Given the description of an element on the screen output the (x, y) to click on. 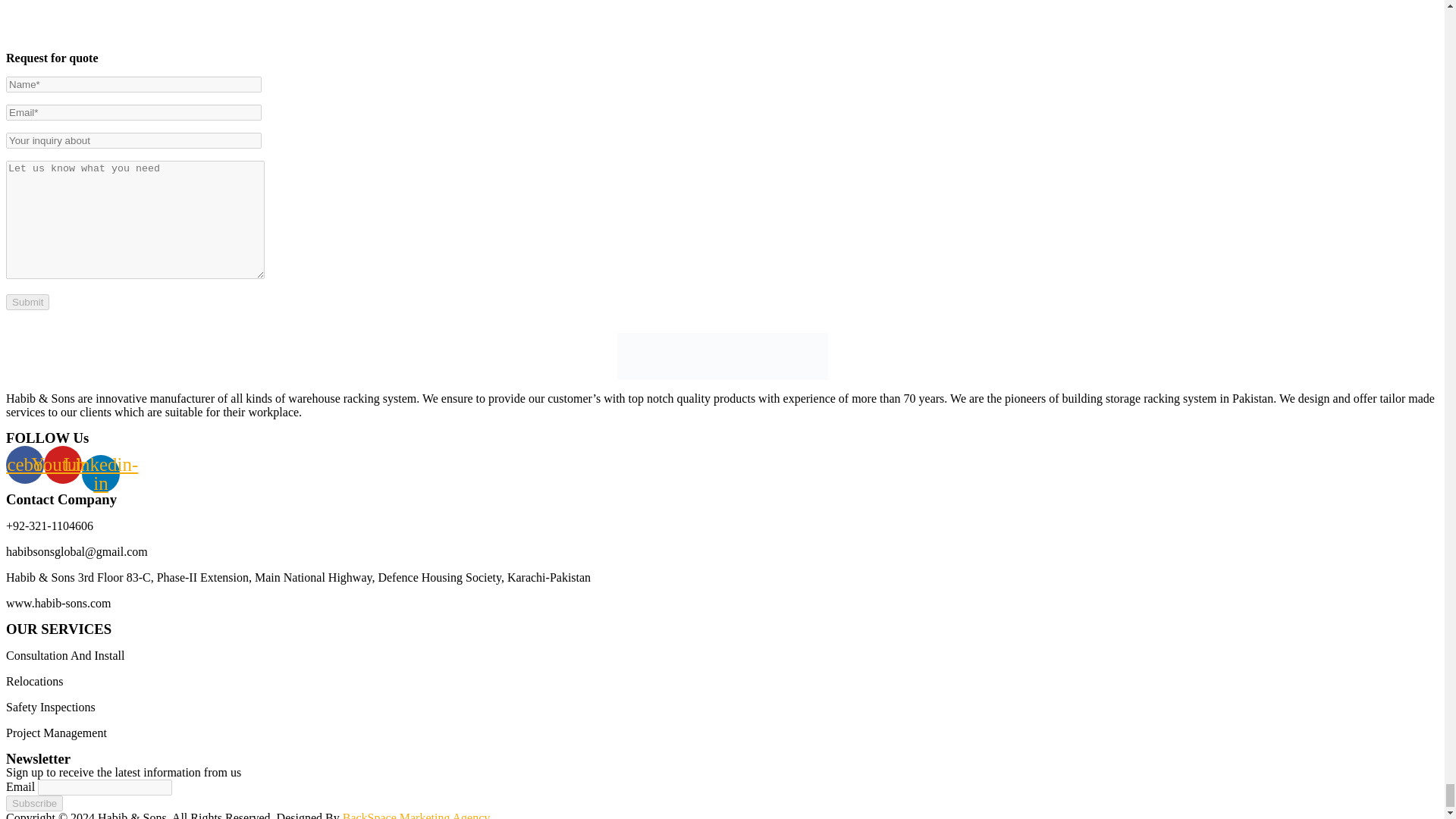
Subscribe (33, 803)
